Given the description of an element on the screen output the (x, y) to click on. 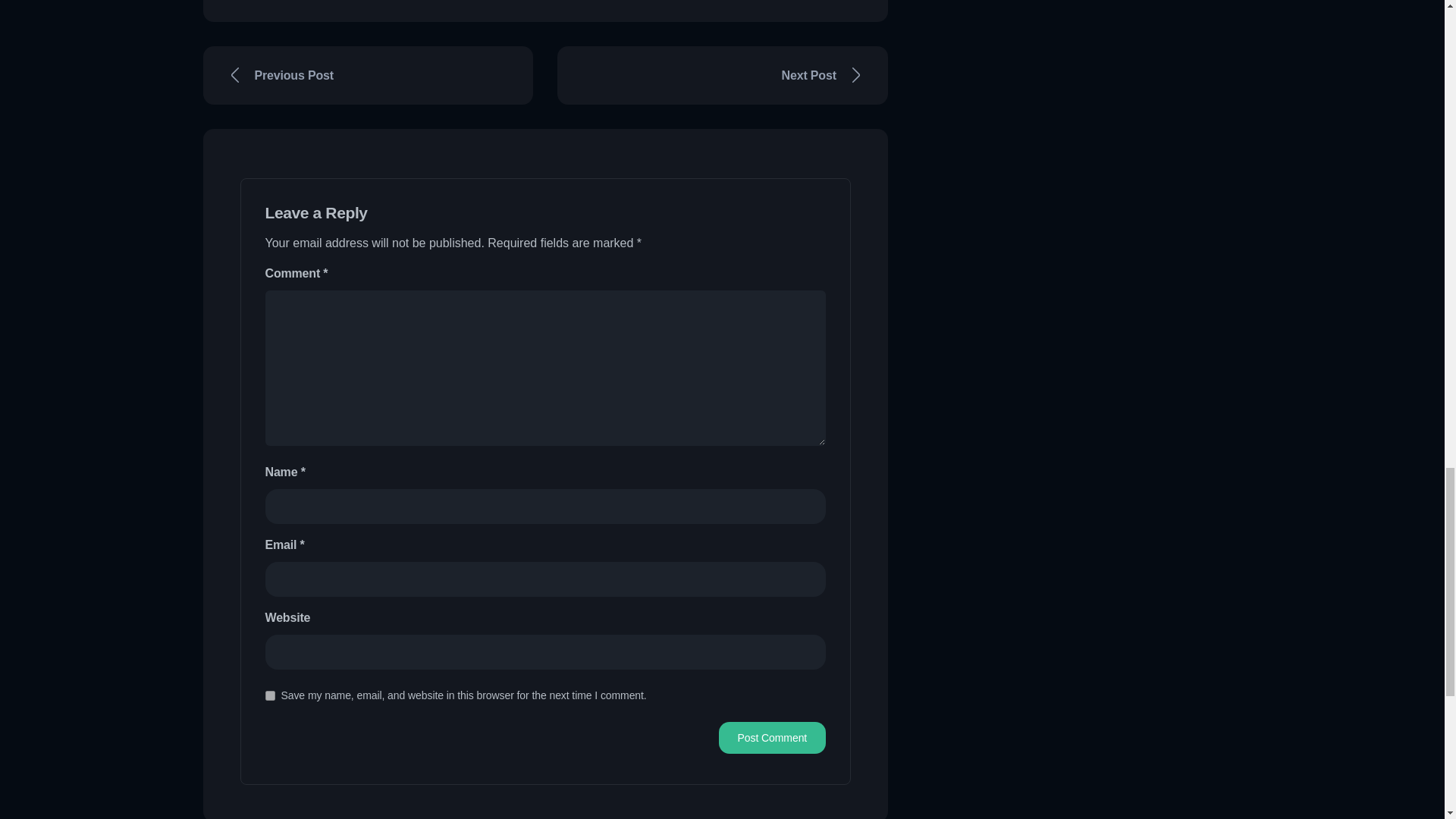
Previous Post (368, 74)
yes (269, 696)
Next Post (722, 74)
Post Comment (772, 737)
Post Comment (772, 737)
